Given the description of an element on the screen output the (x, y) to click on. 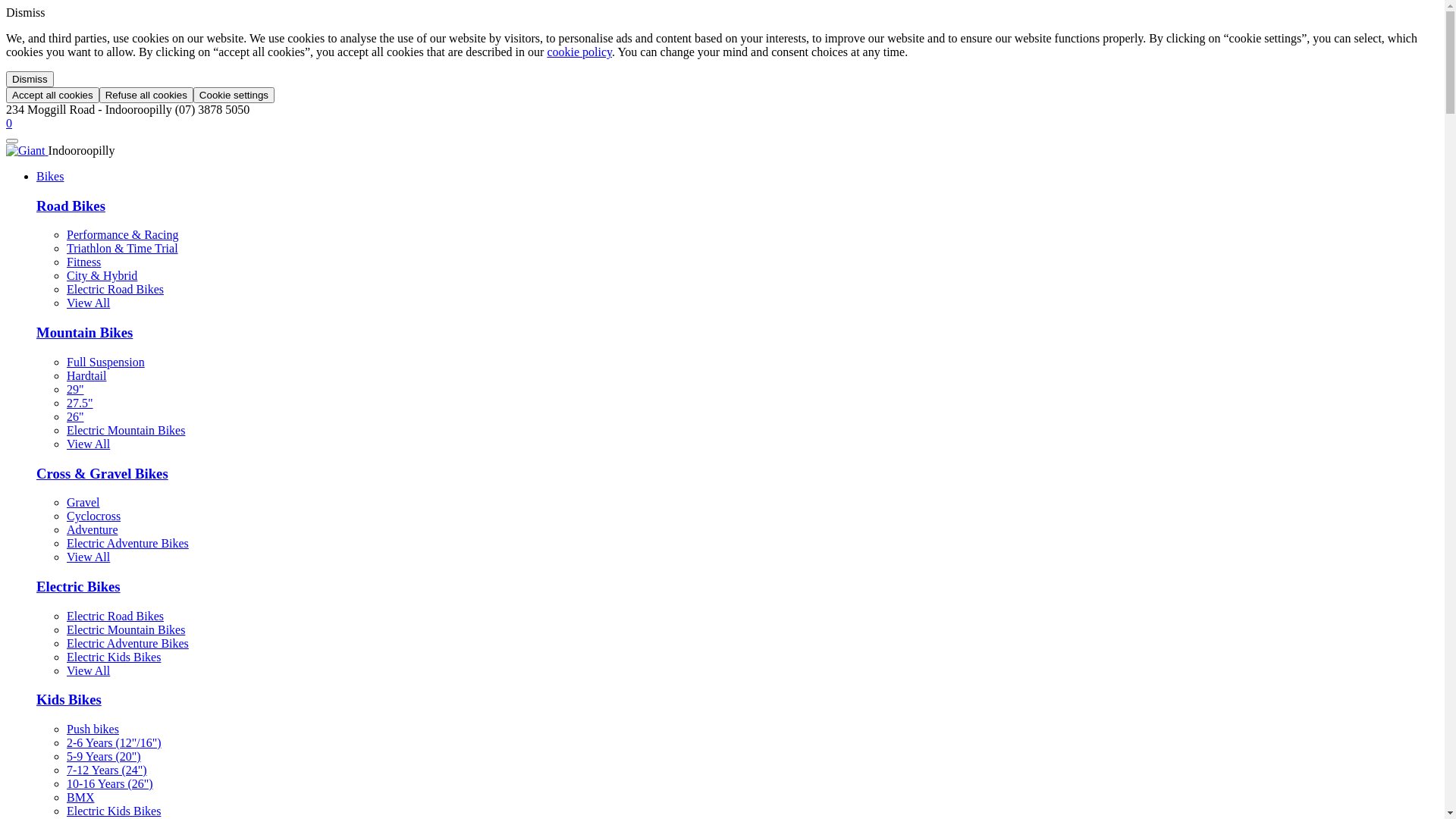
5-9 Years (20") Element type: text (103, 755)
Electric Road Bikes Element type: text (114, 615)
26" Element type: text (75, 416)
Electric Kids Bikes Element type: text (113, 810)
0 item(s) in cart
0
Total amount Element type: text (9, 122)
Fitness Element type: text (83, 261)
View All Element type: text (87, 556)
2-6 Years (12"/16") Element type: text (113, 742)
Electric Mountain Bikes Element type: text (125, 429)
Push bikes Element type: text (92, 728)
Bikes Element type: text (49, 175)
cookie policy Element type: text (578, 51)
Mountain Bikes Element type: text (84, 332)
View All Element type: text (87, 302)
Electric Kids Bikes Element type: text (113, 656)
Electric Road Bikes Element type: text (114, 288)
Electric Adventure Bikes Element type: text (127, 542)
Performance & Racing Element type: text (122, 234)
Dismiss Element type: text (29, 79)
Electric Mountain Bikes Element type: text (125, 629)
Road Bikes Element type: text (70, 205)
27.5" Element type: text (79, 402)
Electric Adventure Bikes Element type: text (127, 643)
10-16 Years (26") Element type: text (109, 783)
Triathlon & Time Trial Element type: text (122, 247)
Kids Bikes Element type: text (68, 699)
Refuse all cookies Element type: text (146, 95)
Accept all cookies Element type: text (52, 95)
Cookie settings Element type: text (233, 95)
Adventure Element type: text (92, 529)
View All Element type: text (87, 443)
Full Suspension Element type: text (105, 361)
Electric Bikes Element type: text (78, 586)
29" Element type: text (75, 388)
Cross & Gravel Bikes Element type: text (102, 473)
BMX Element type: text (80, 796)
Cyclocross Element type: text (93, 515)
Gravel Element type: text (83, 501)
Hardtail Element type: text (86, 375)
City & Hybrid Element type: text (101, 275)
View All Element type: text (87, 670)
7-12 Years (24") Element type: text (106, 769)
